Given the description of an element on the screen output the (x, y) to click on. 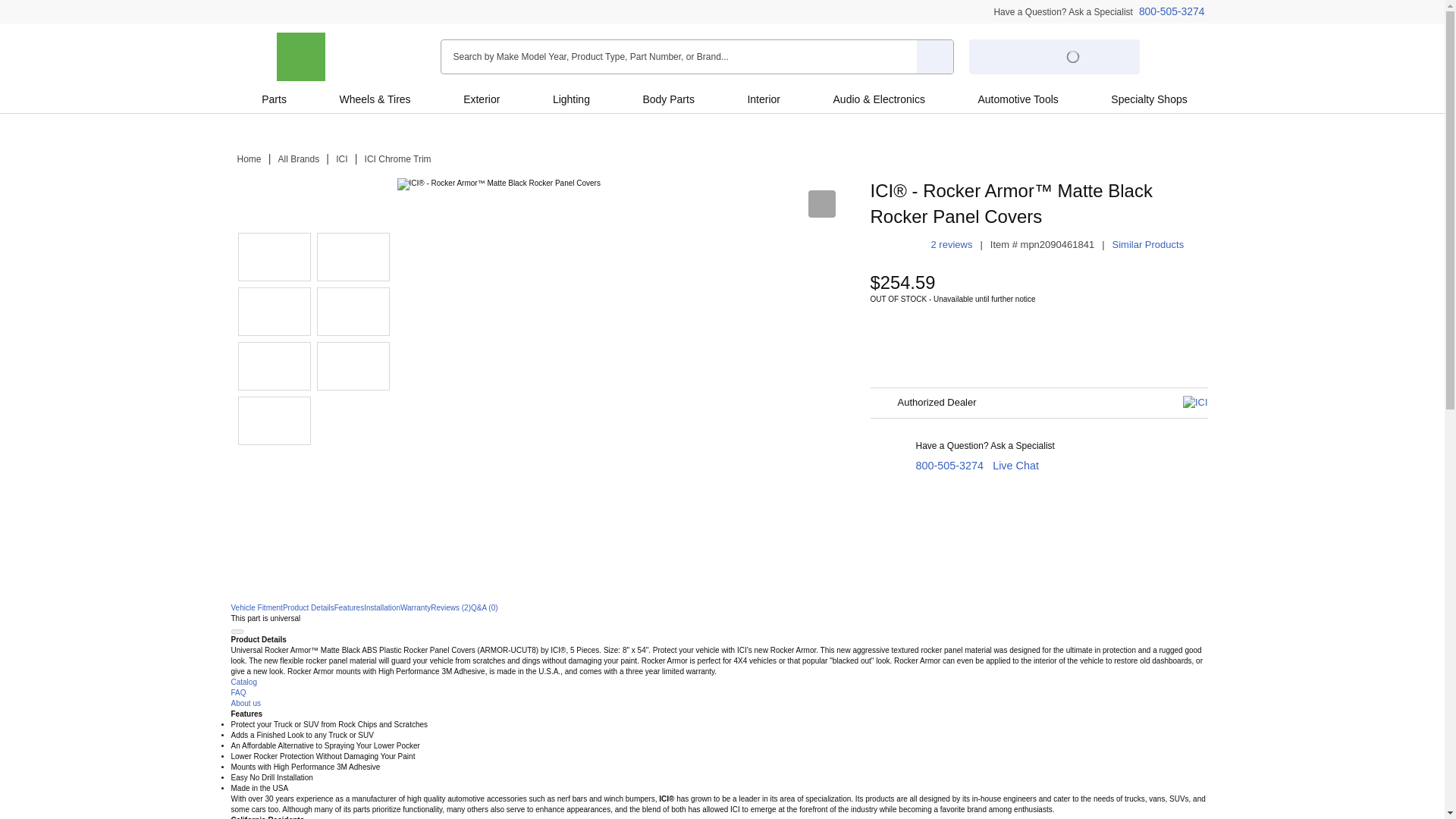
Body Parts (667, 99)
CAR ID (300, 56)
About us (245, 703)
Product Details (308, 607)
Wheels (356, 99)
2 reviews (951, 244)
Catalog (243, 682)
Installation (382, 607)
All Brands (299, 158)
Vehicle Fitment (256, 607)
Exterior (480, 99)
Automotive Tools (1017, 99)
Home (247, 158)
Warranty (415, 607)
ICI Chrome Trim (397, 158)
